Given the description of an element on the screen output the (x, y) to click on. 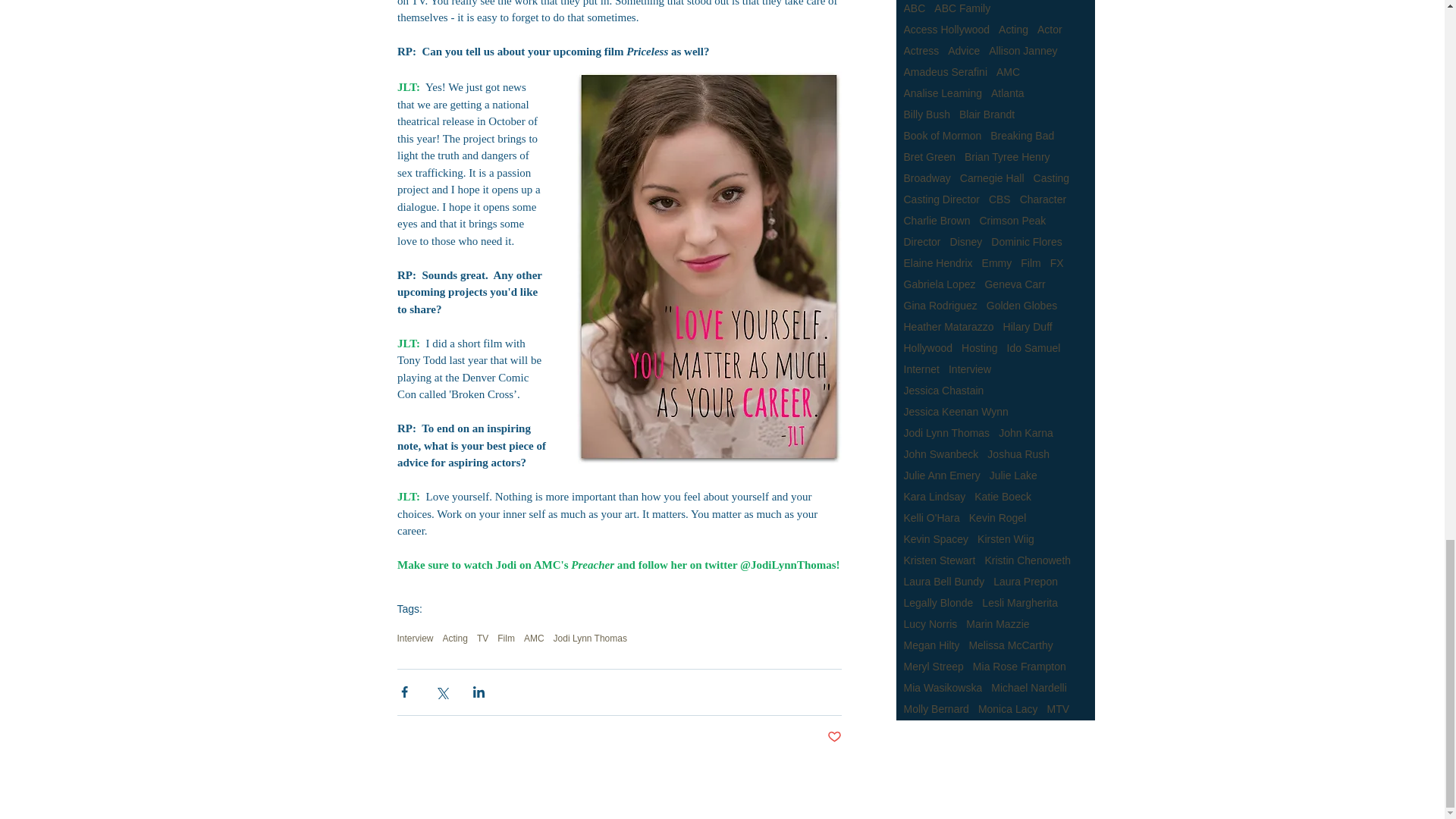
TV (482, 638)
JodiLynnThomas! (795, 564)
Film (506, 638)
Interview (415, 638)
Jodi Lynn Thomas (590, 638)
AMC (534, 638)
Post not marked as liked (834, 737)
Acting (454, 638)
